Given the description of an element on the screen output the (x, y) to click on. 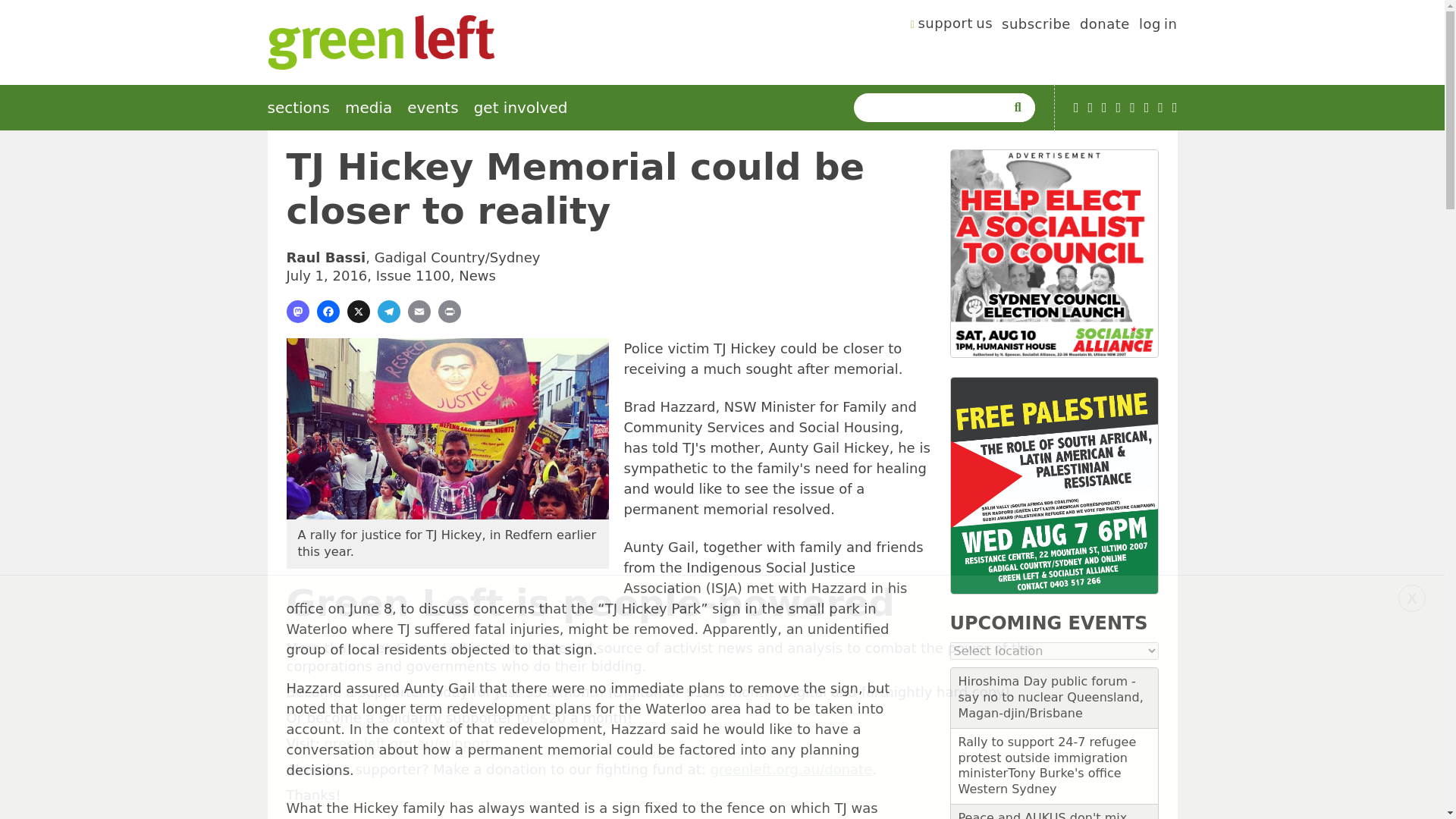
support us (951, 26)
Share on Facebook (328, 311)
donate (1104, 26)
Share on Telegram (388, 311)
Share on Mastondon (297, 311)
share via email (418, 311)
subscribe (1035, 26)
Print (449, 311)
events (432, 107)
Enter the terms you wish to search for. (932, 107)
Share on X (358, 311)
log in (1157, 26)
